Given the description of an element on the screen output the (x, y) to click on. 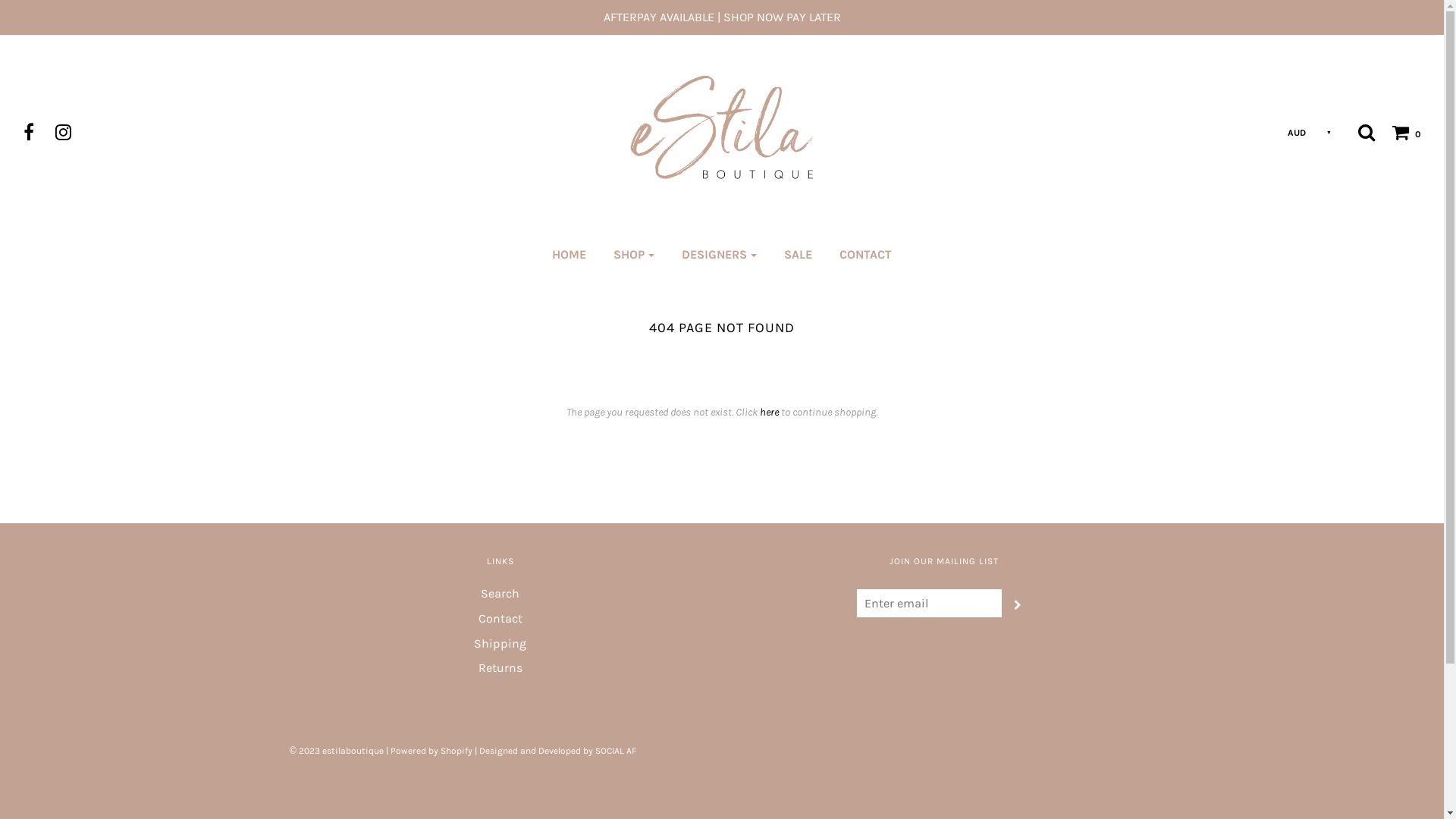
HOME Element type: text (568, 254)
0 Element type: text (1399, 131)
Search Element type: hover (1366, 131)
Returns Element type: text (499, 670)
CONTACT Element type: text (865, 254)
here Element type: text (768, 411)
SHOP Element type: text (633, 254)
SALE Element type: text (797, 254)
SOCIAL AF Element type: text (615, 750)
Shipping Element type: text (499, 645)
Contact Element type: text (499, 620)
DESIGNERS Element type: text (719, 254)
Powered by Shopify Element type: text (431, 750)
Search Element type: text (499, 595)
